Given the description of an element on the screen output the (x, y) to click on. 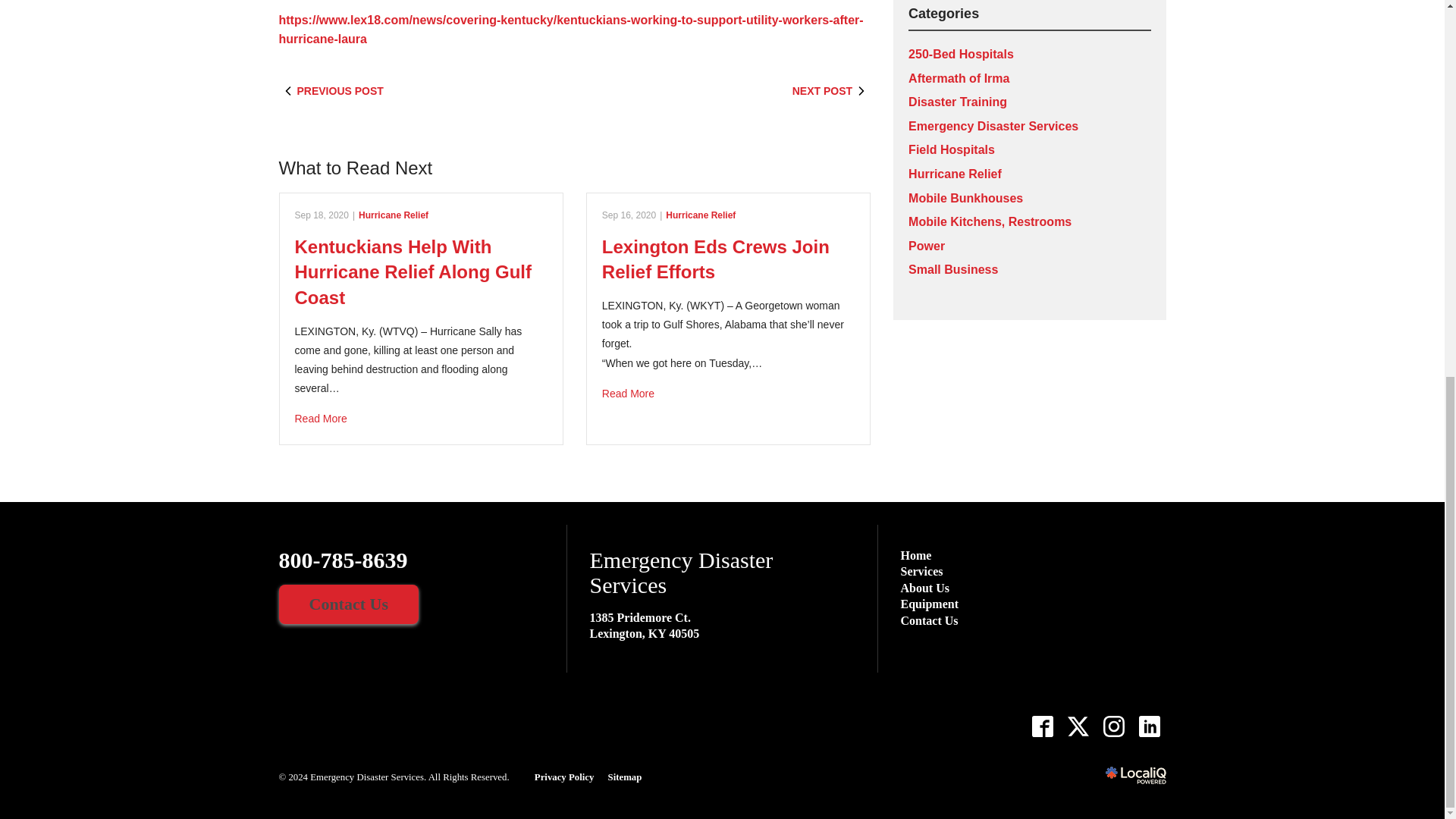
Kentuckians Help With Hurricane Relief Along Gulf Coast (420, 418)
facebook (1042, 726)
Lexington Eds Crews Join Relief Efforts (728, 393)
instagram (1114, 726)
linkedin (1149, 726)
twitter (1077, 726)
